Given the description of an element on the screen output the (x, y) to click on. 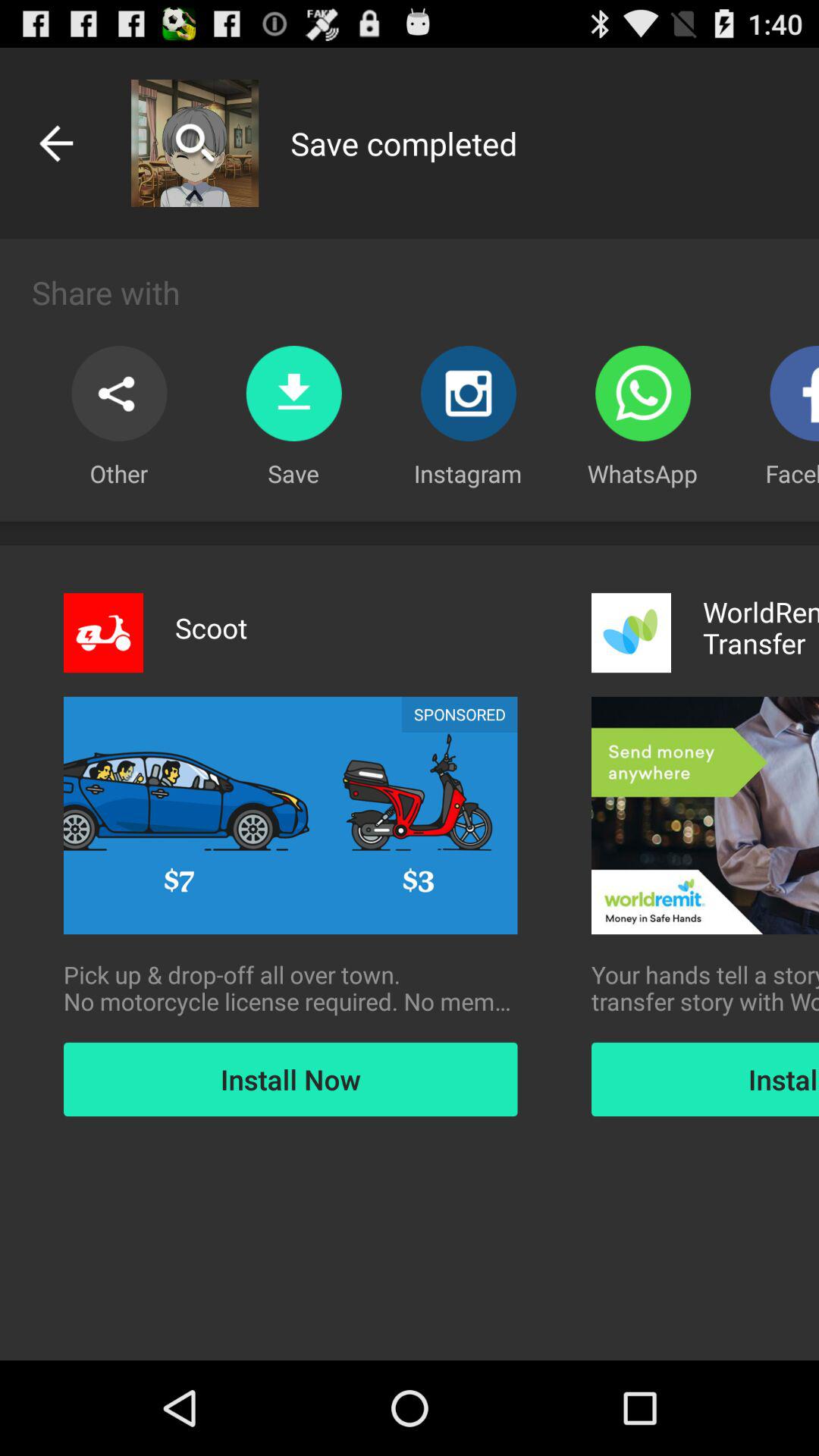
select app above the pick up drop (459, 714)
